Given the description of an element on the screen output the (x, y) to click on. 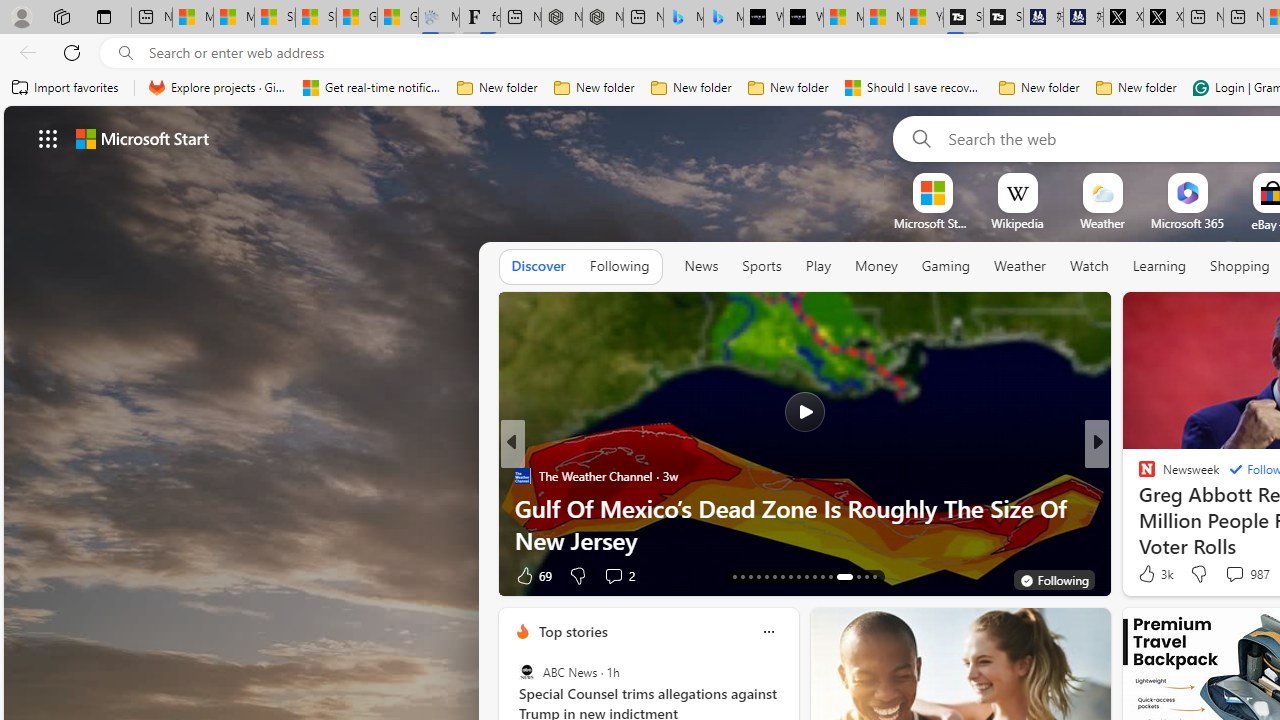
This story is trending (449, 579)
AutomationID: tab-25 (829, 576)
Play (818, 267)
Watch (1089, 265)
Shanghai, China weather forecast | Microsoft Weather (315, 17)
3k Like (1154, 574)
View comments 987 Comment (1246, 574)
Streaming Coverage | T3 (963, 17)
FOX News (1138, 475)
Money (876, 267)
Gaming (945, 265)
69 Like (532, 574)
